Given the description of an element on the screen output the (x, y) to click on. 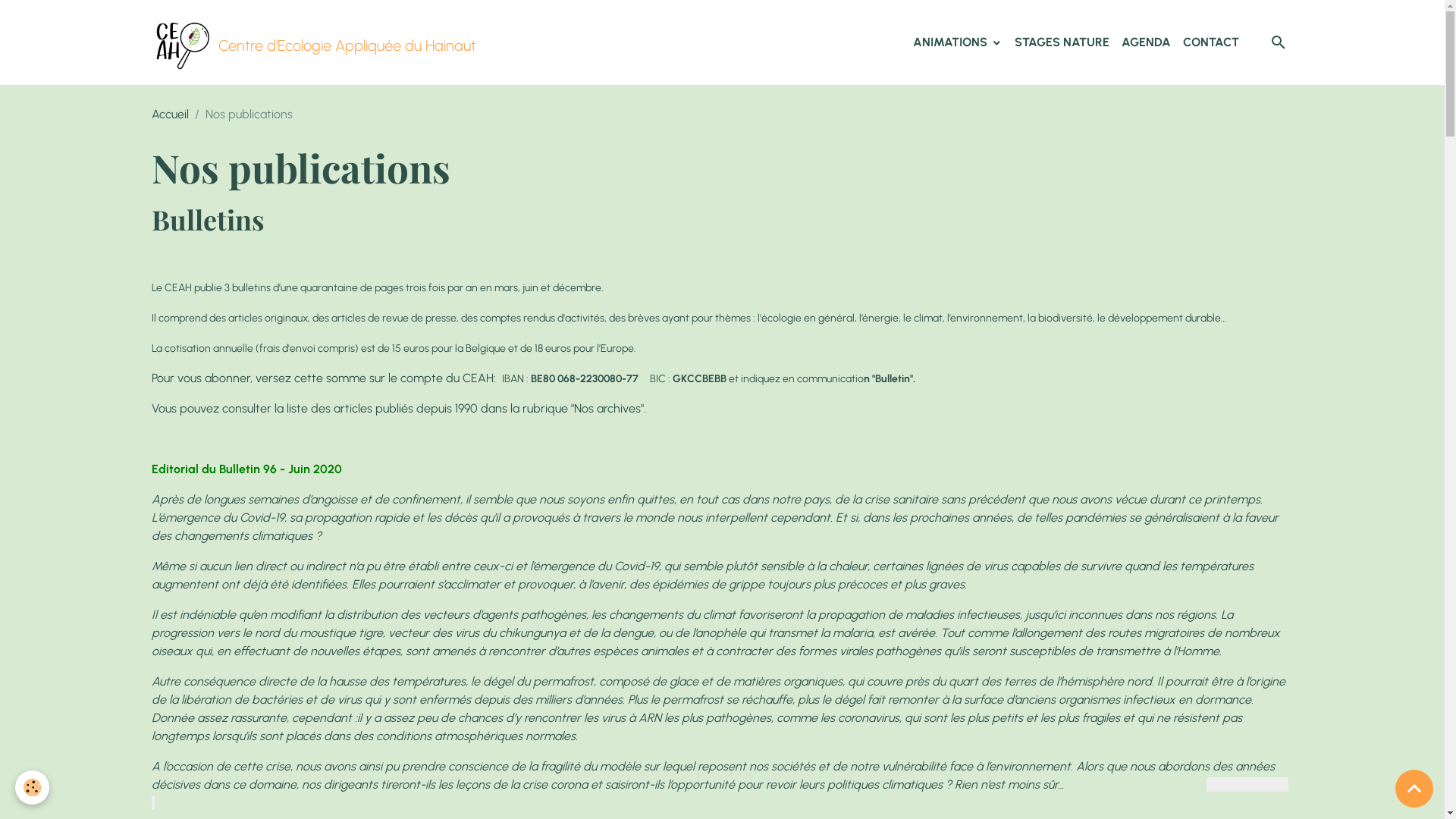
ANIMATIONS Element type: text (957, 42)
AGENDA Element type: text (1145, 42)
Accueil Element type: text (169, 113)
STAGES NATURE Element type: text (1061, 42)
CONTACT Element type: text (1210, 42)
